Given the description of an element on the screen output the (x, y) to click on. 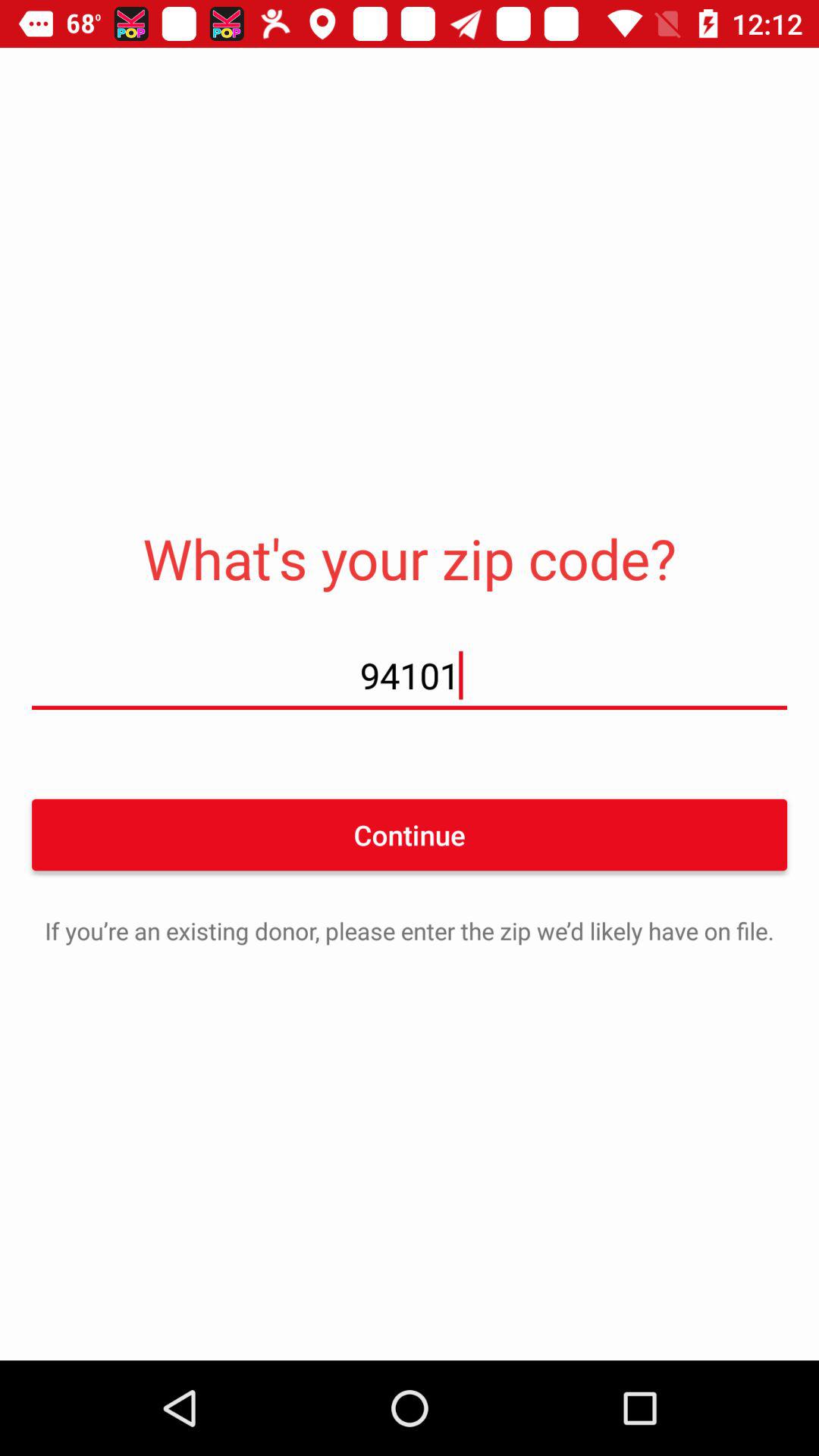
launch the continue icon (409, 834)
